Given the description of an element on the screen output the (x, y) to click on. 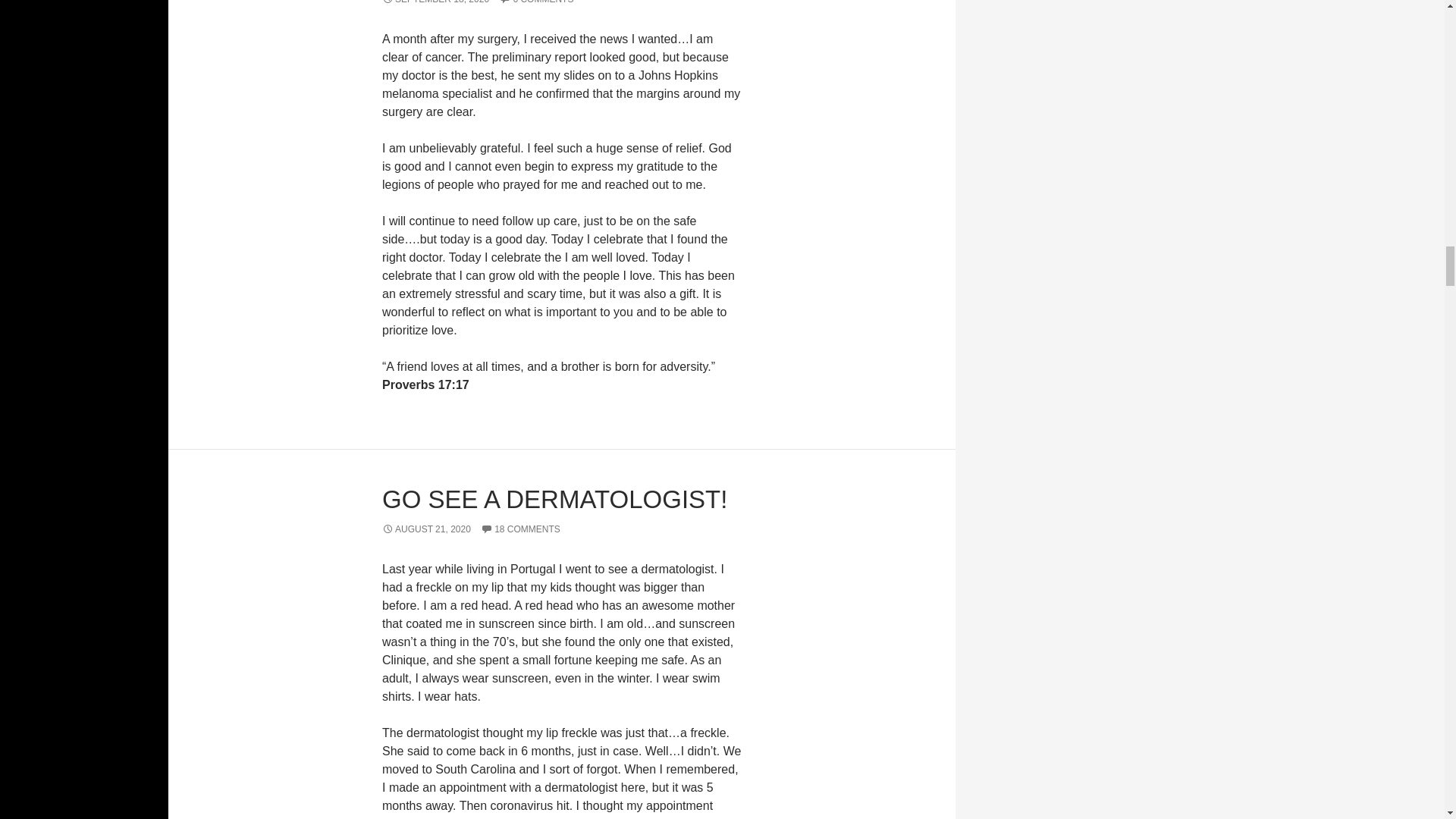
AUGUST 21, 2020 (425, 529)
SEPTEMBER 18, 2020 (435, 2)
6 COMMENTS (536, 2)
GO SEE A DERMATOLOGIST! (553, 499)
18 COMMENTS (520, 529)
